Given the description of an element on the screen output the (x, y) to click on. 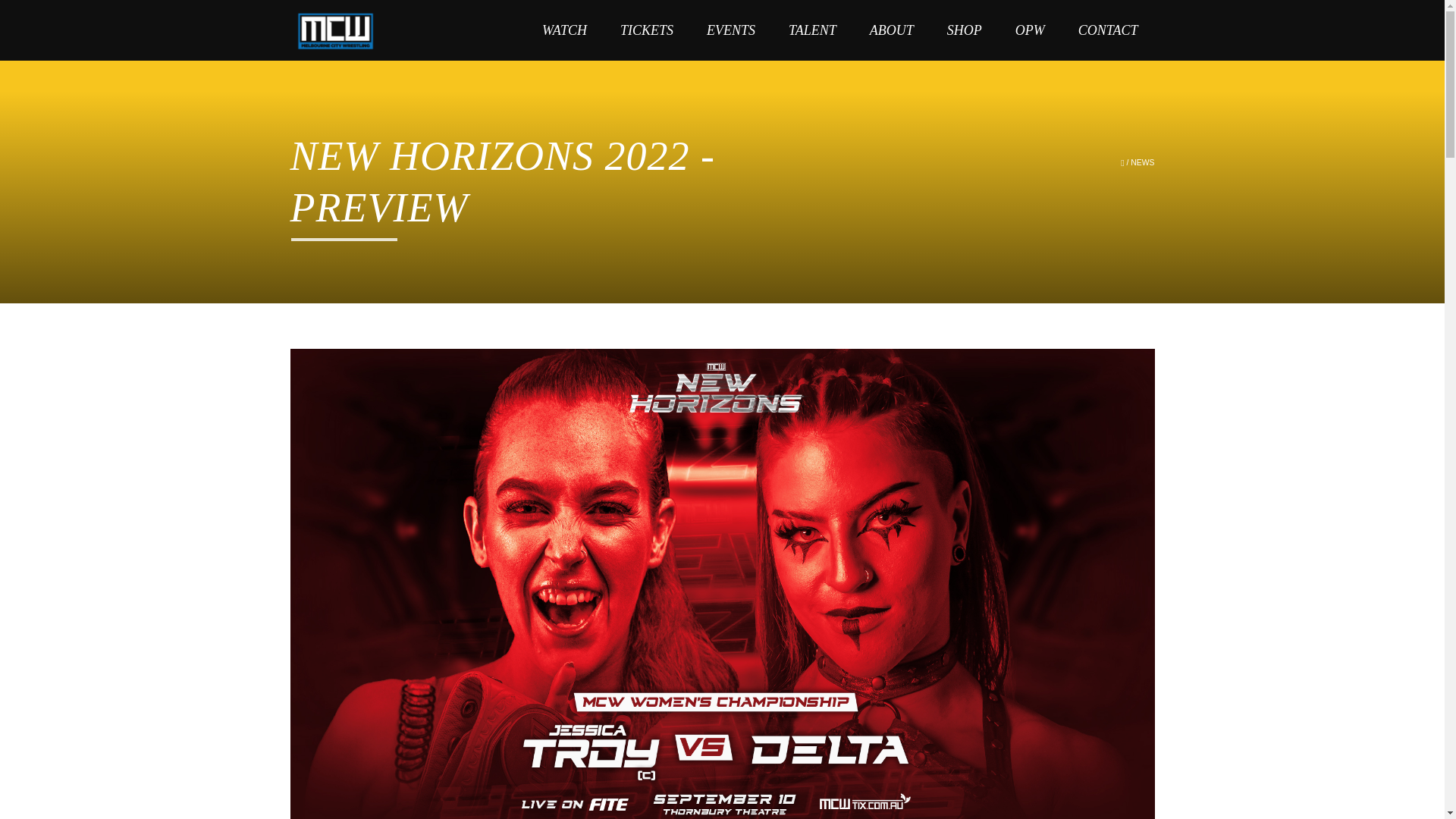
ABOUT (891, 30)
EVENTS (730, 30)
Home (334, 30)
TALENT (812, 30)
SHOP (964, 30)
NEWS (1142, 162)
CONTACT (1107, 30)
WATCH (564, 30)
OPW (1029, 30)
TICKETS (647, 30)
